Given the description of an element on the screen output the (x, y) to click on. 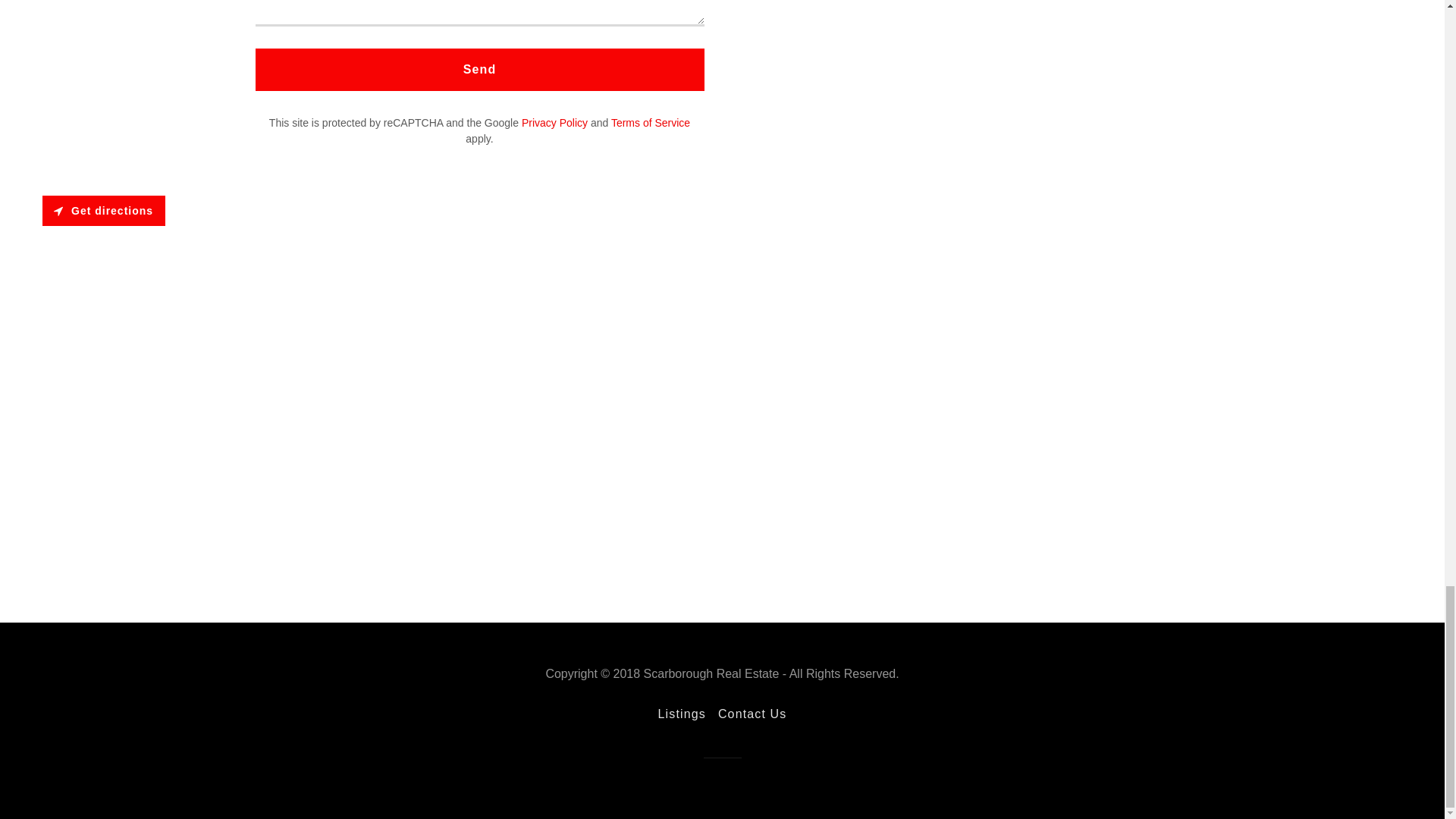
Privacy Policy (554, 122)
Send (478, 69)
Listings (681, 714)
Terms of Service (650, 122)
Get directions (103, 210)
Contact Us (752, 714)
